Given the description of an element on the screen output the (x, y) to click on. 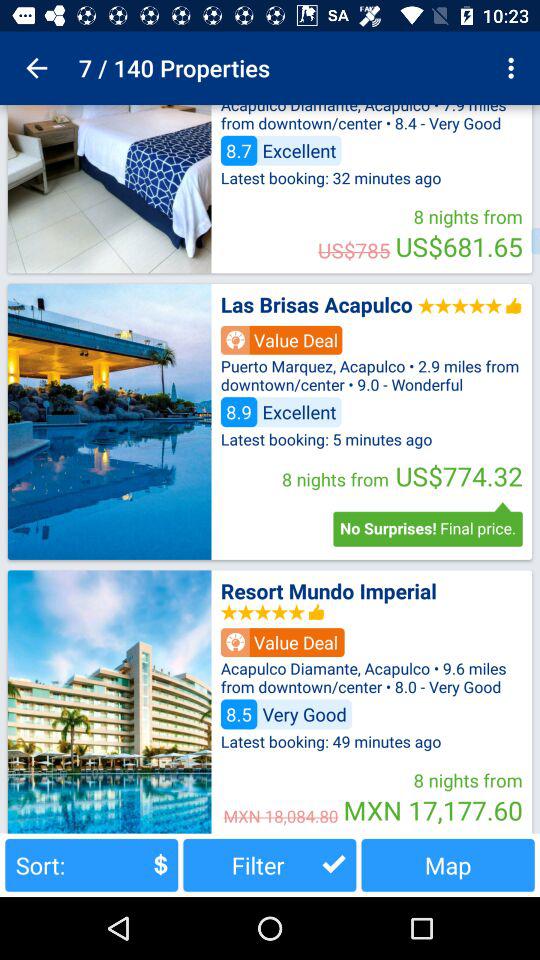
get more pictures (109, 189)
